Given the description of an element on the screen output the (x, y) to click on. 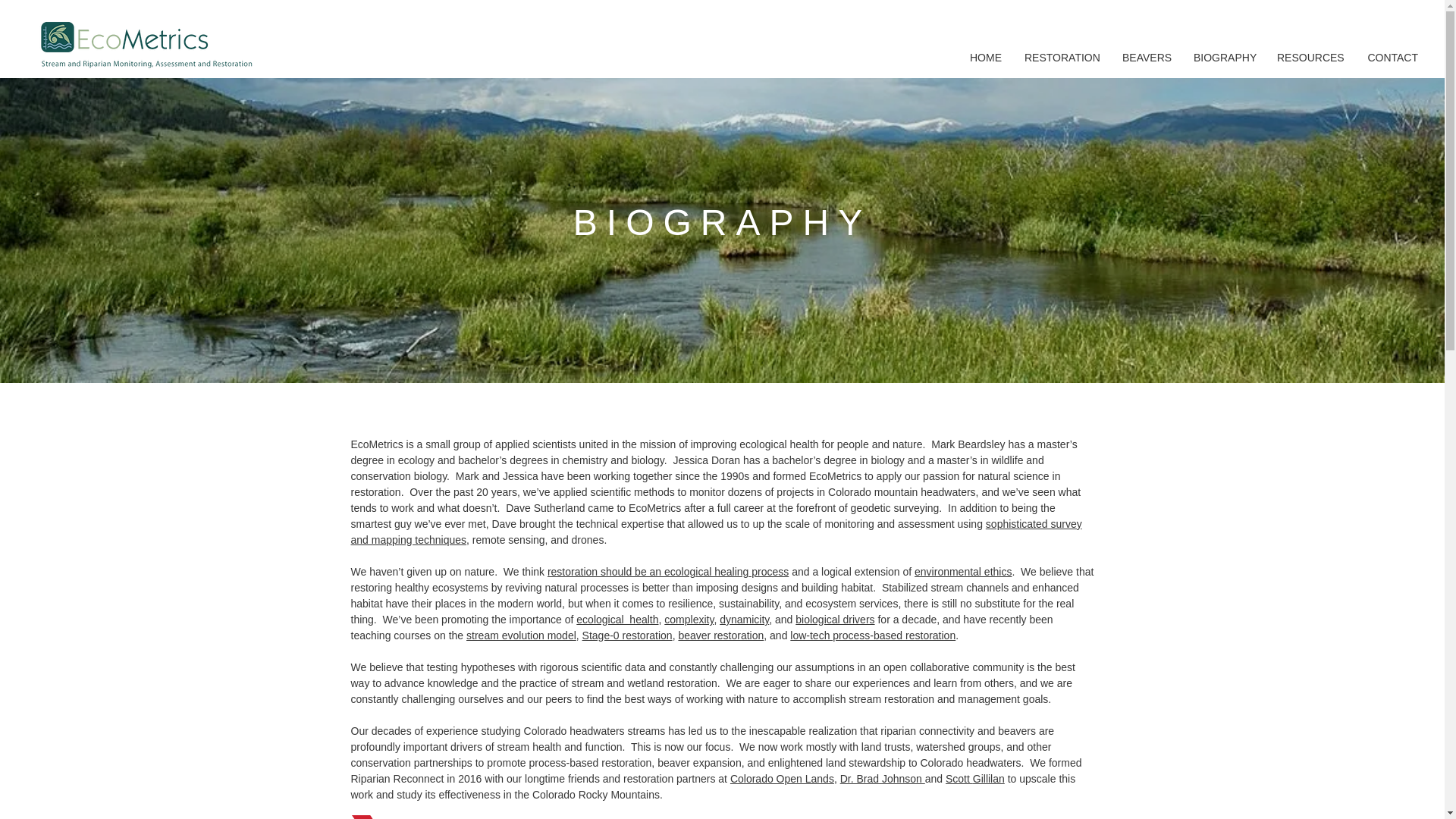
BEAVERS (1146, 57)
stream evolution model (520, 635)
low-tech process-based restoration (872, 635)
Stage-0 restoration (627, 635)
RESOURCES (1309, 57)
Colorado Open Lands (782, 778)
restoration should be an ecological healing process (668, 571)
Dr. Brad Johnson (882, 778)
Scott (958, 778)
dynamicity (743, 619)
environmental ethics (962, 571)
ecological  health (617, 619)
Gillilan (988, 778)
sophisticated survey and mapping techniques (715, 531)
complexity (688, 619)
